Given the description of an element on the screen output the (x, y) to click on. 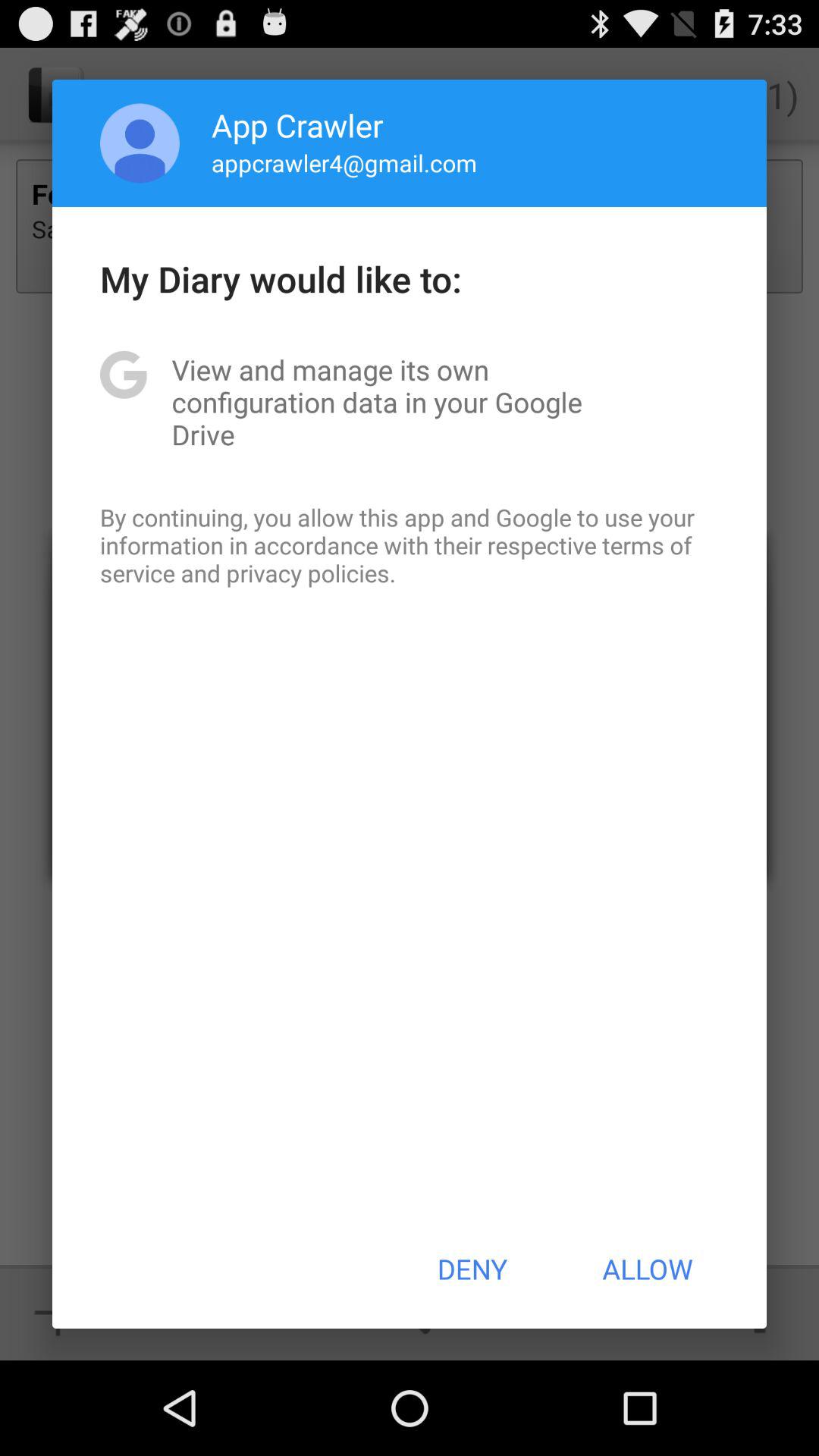
flip to the deny (471, 1268)
